Given the description of an element on the screen output the (x, y) to click on. 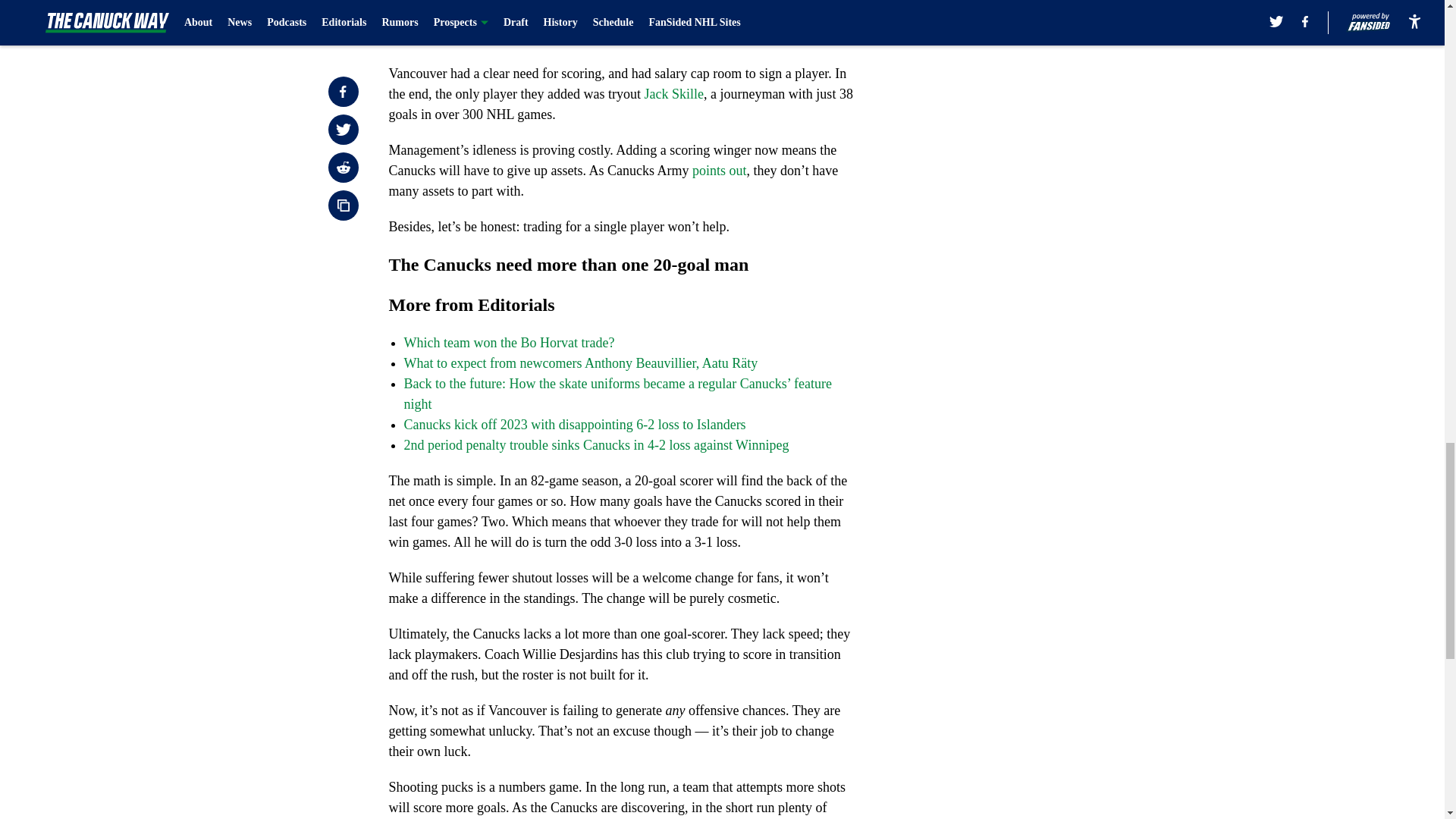
Which team won the Bo Horvat trade? (508, 342)
points out (719, 170)
Brandon Pirri (714, 17)
Loui Eriksson (743, 2)
Jack Skille (673, 93)
Radim Vrbata (636, 2)
Jiri Hudler (806, 17)
